Given the description of an element on the screen output the (x, y) to click on. 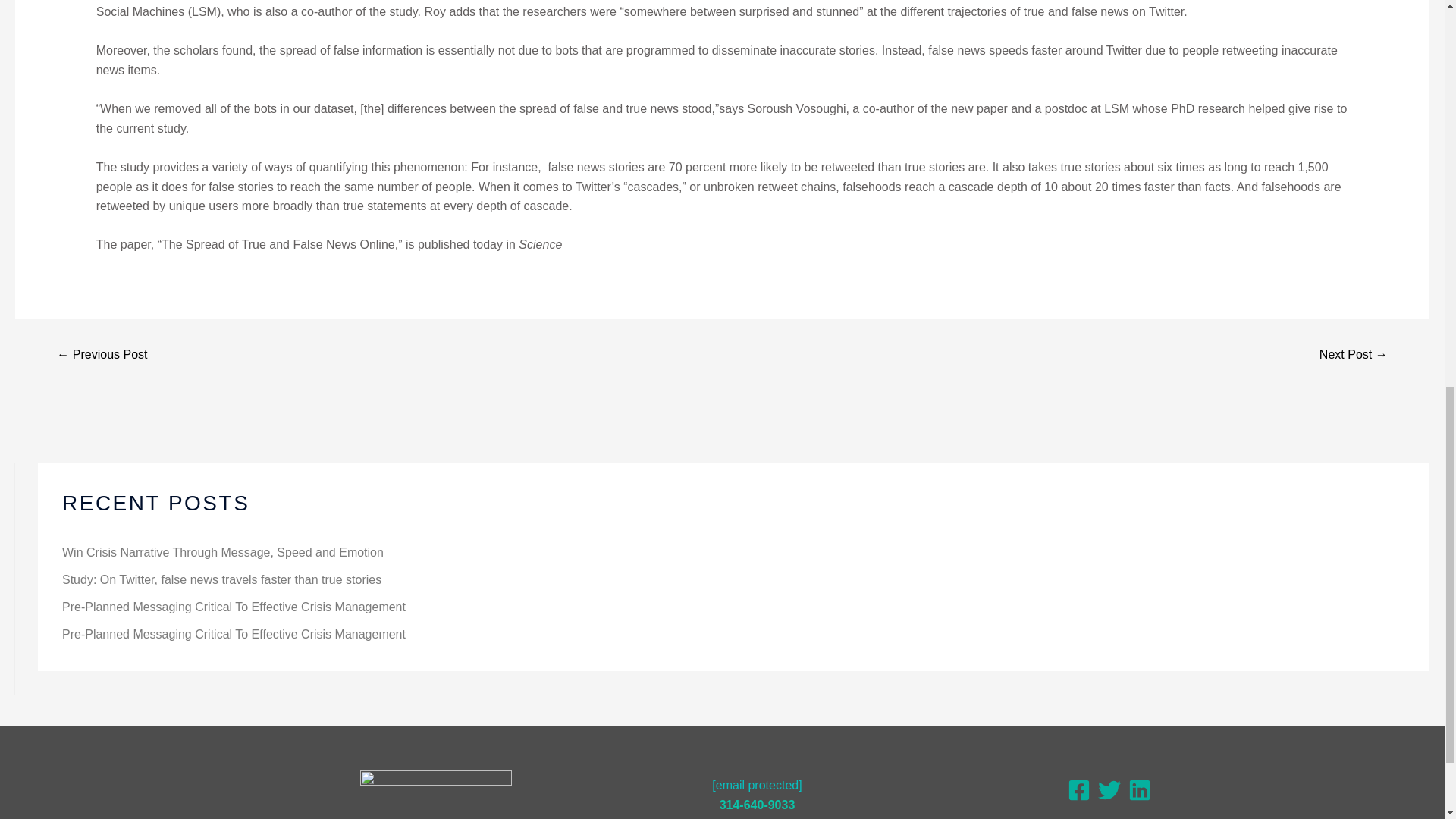
Win Crisis Narrative Through Message, Speed and Emotion (223, 552)
